Given the description of an element on the screen output the (x, y) to click on. 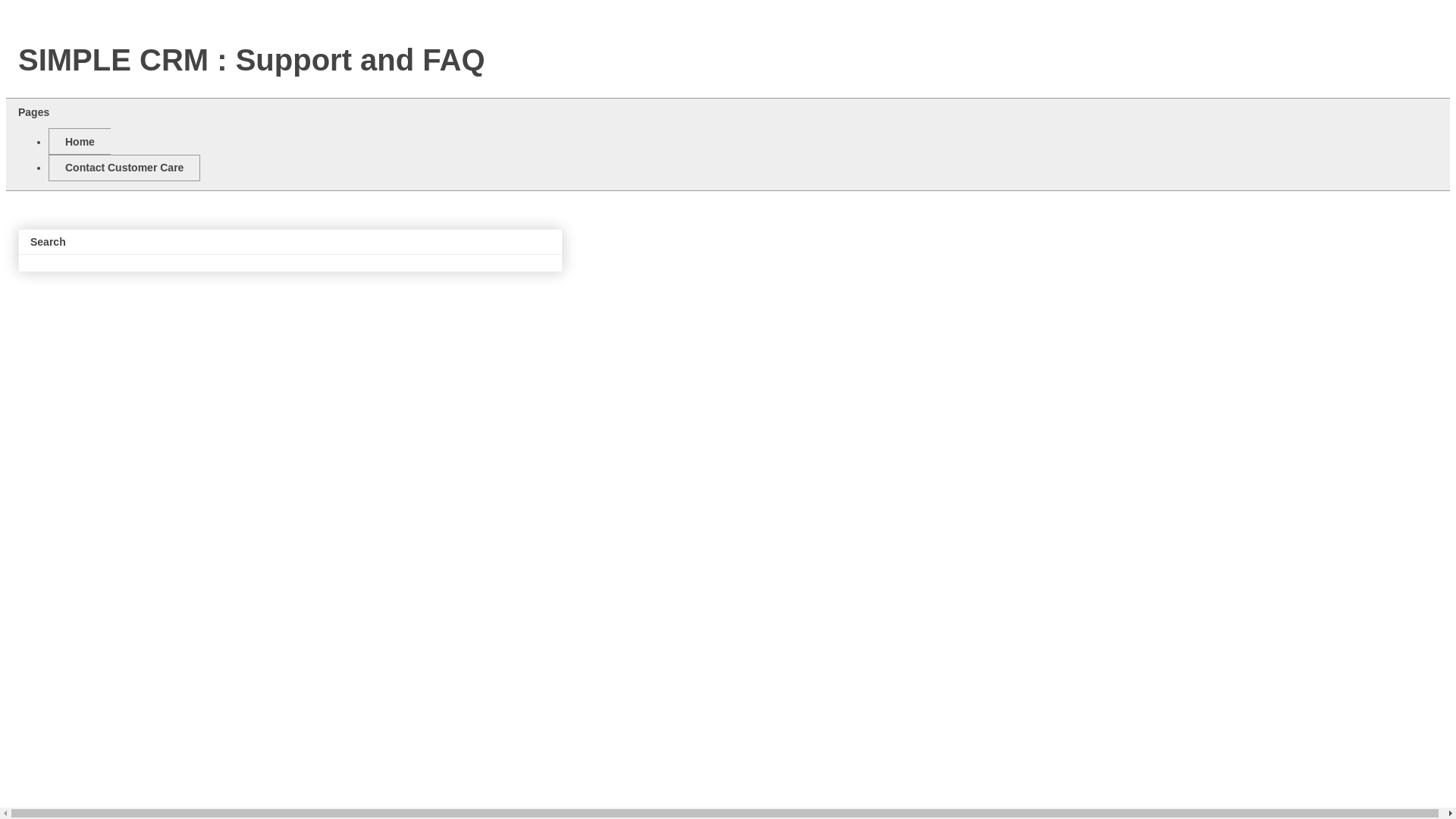
Home (79, 140)
Contact Customer Care (124, 167)
SIMPLE CRM : Support and FAQ (250, 59)
